Given the description of an element on the screen output the (x, y) to click on. 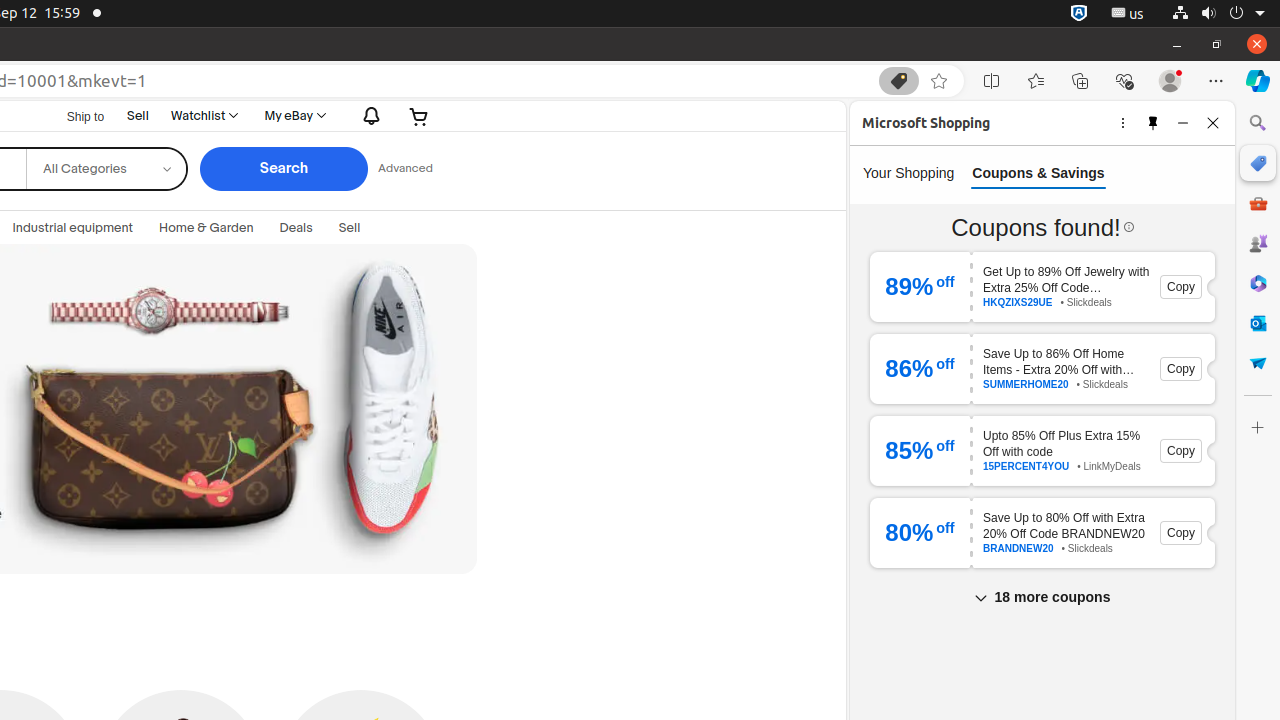
This site has coupons! Shopping in Microsoft Edge Element type: push-button (899, 81)
Deals Element type: link (296, 228)
Search Element type: push-button (283, 169)
Notifications Element type: push-button (367, 116)
89 % off Get Up to 89% Off Jewelry with Extra 25% Off Code HKQZIXS29UE HKQZIXS29UE • Slickdeals Copy Element type: push-button (1042, 286)
